Given the description of an element on the screen output the (x, y) to click on. 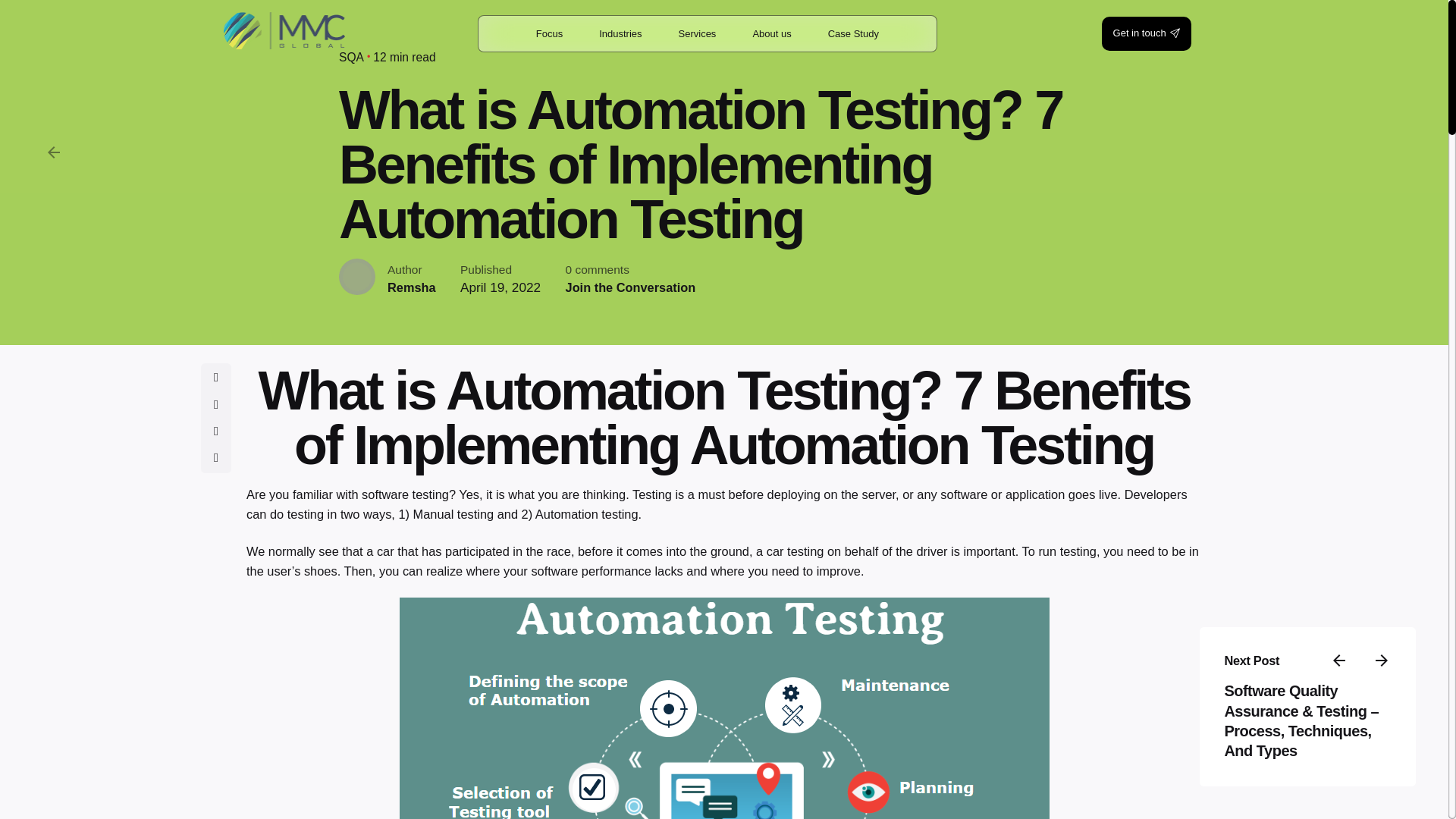
Industries (620, 33)
Services (697, 33)
About us (771, 33)
Focus (549, 33)
Get in touch (1146, 33)
Case Study (852, 33)
